Given the description of an element on the screen output the (x, y) to click on. 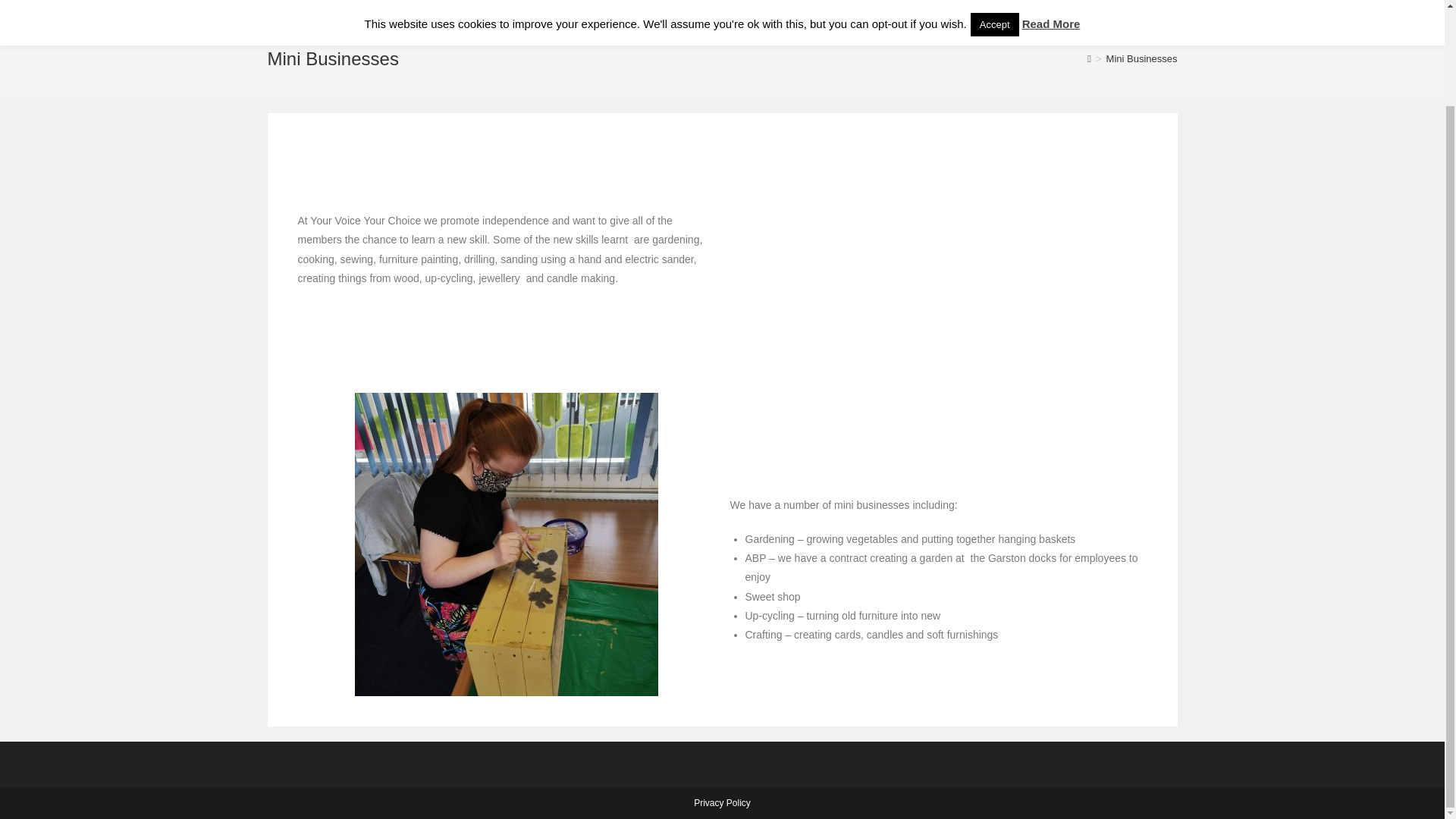
Privacy Policy (722, 802)
sarah craft (506, 544)
Mini Businesses (1141, 58)
